Given the description of an element on the screen output the (x, y) to click on. 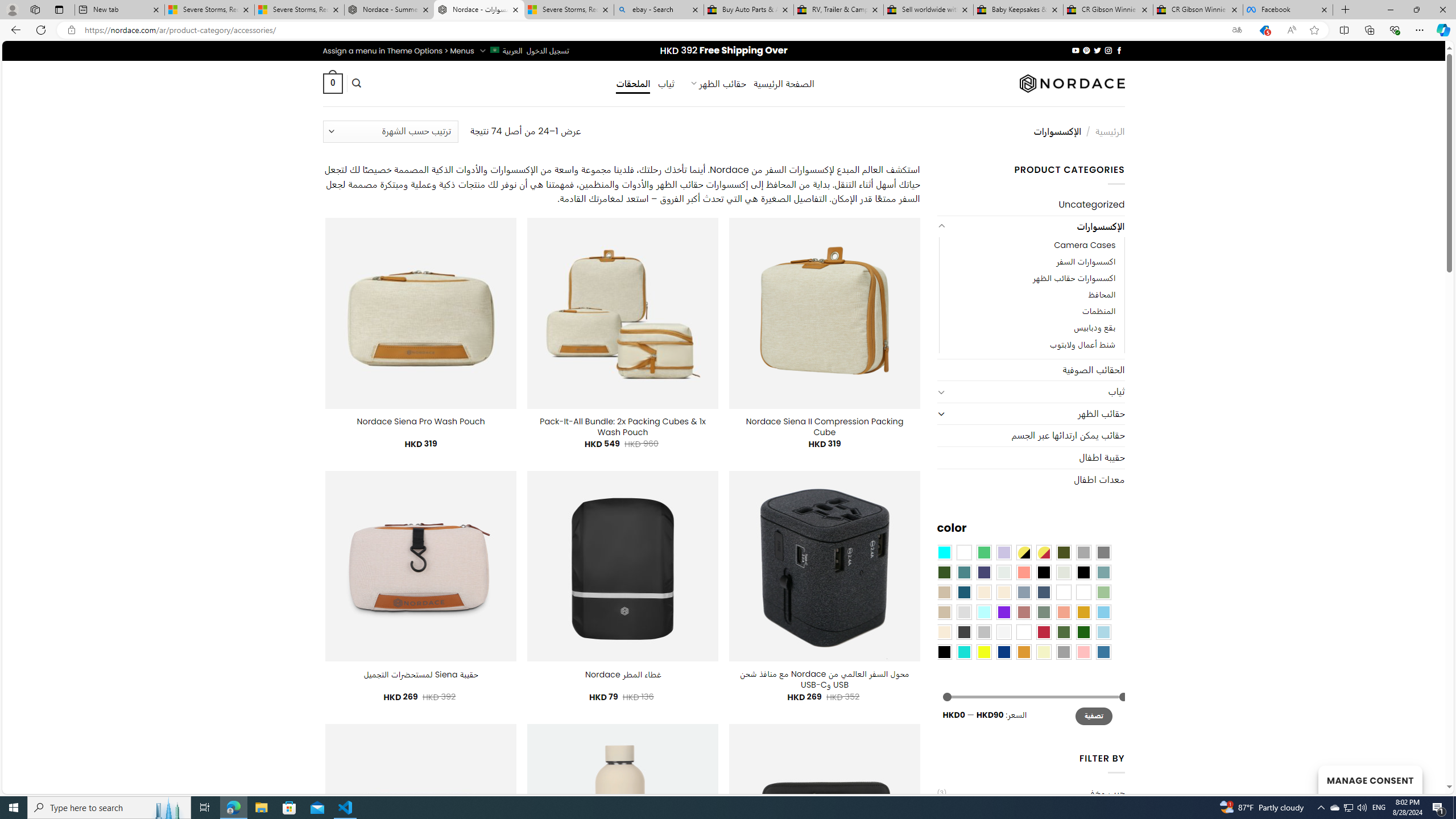
Forest (944, 572)
Yellow-Red (1043, 551)
Black-Brown (1082, 572)
Copilot (Ctrl+Shift+.) (1442, 29)
  0   (332, 83)
Aqua Blue (944, 551)
